Given the description of an element on the screen output the (x, y) to click on. 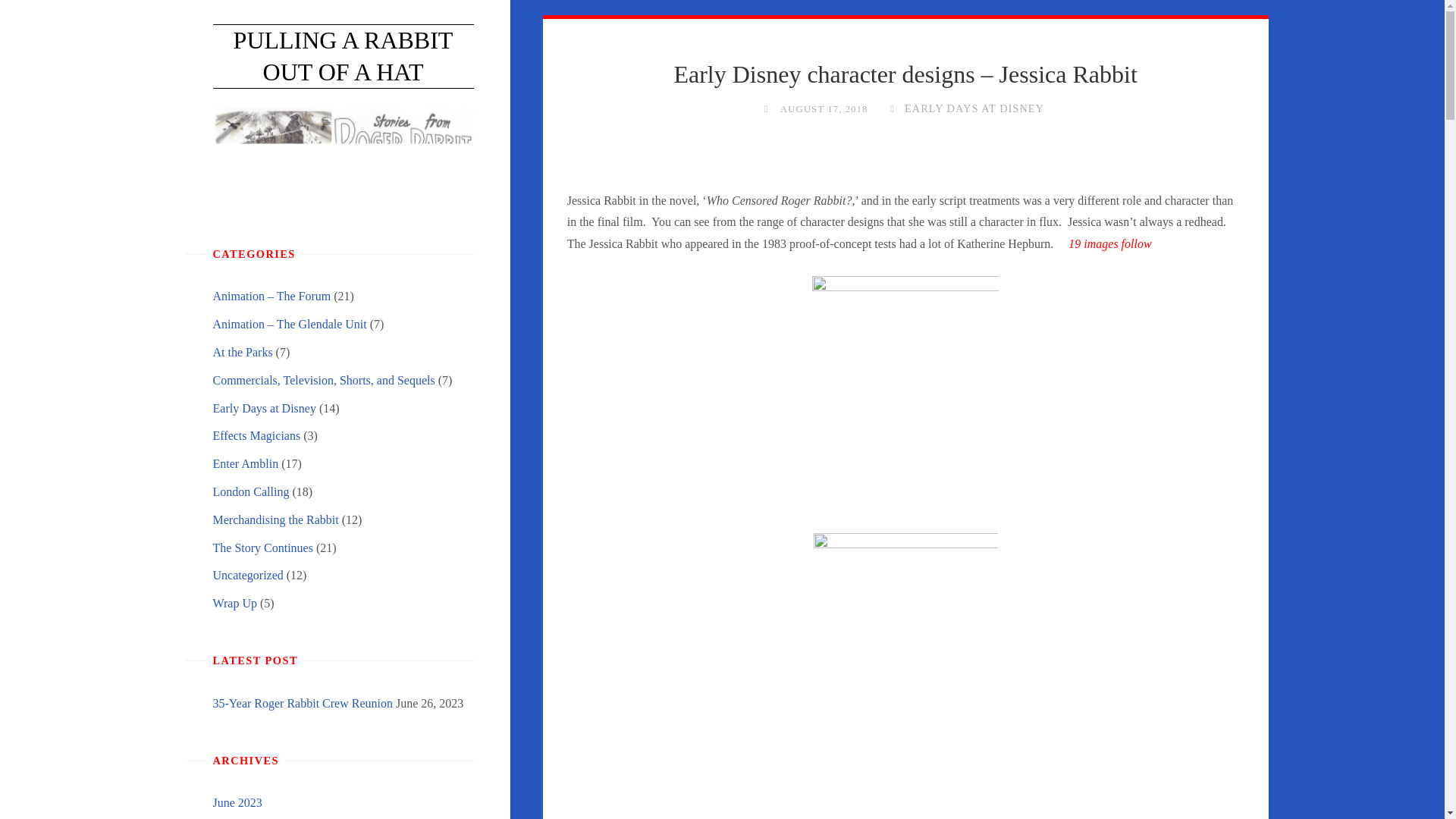
Categories (892, 108)
June 2023 (237, 802)
PULLING A RABBIT OUT OF A HAT (342, 56)
Commercials, Television, Shorts, and Sequels (322, 379)
The Story Continues (262, 547)
Date (765, 108)
Enter Amblin (245, 463)
Early Days at Disney (263, 408)
Effects Magicians (255, 435)
Wrap Up (234, 603)
